Given the description of an element on the screen output the (x, y) to click on. 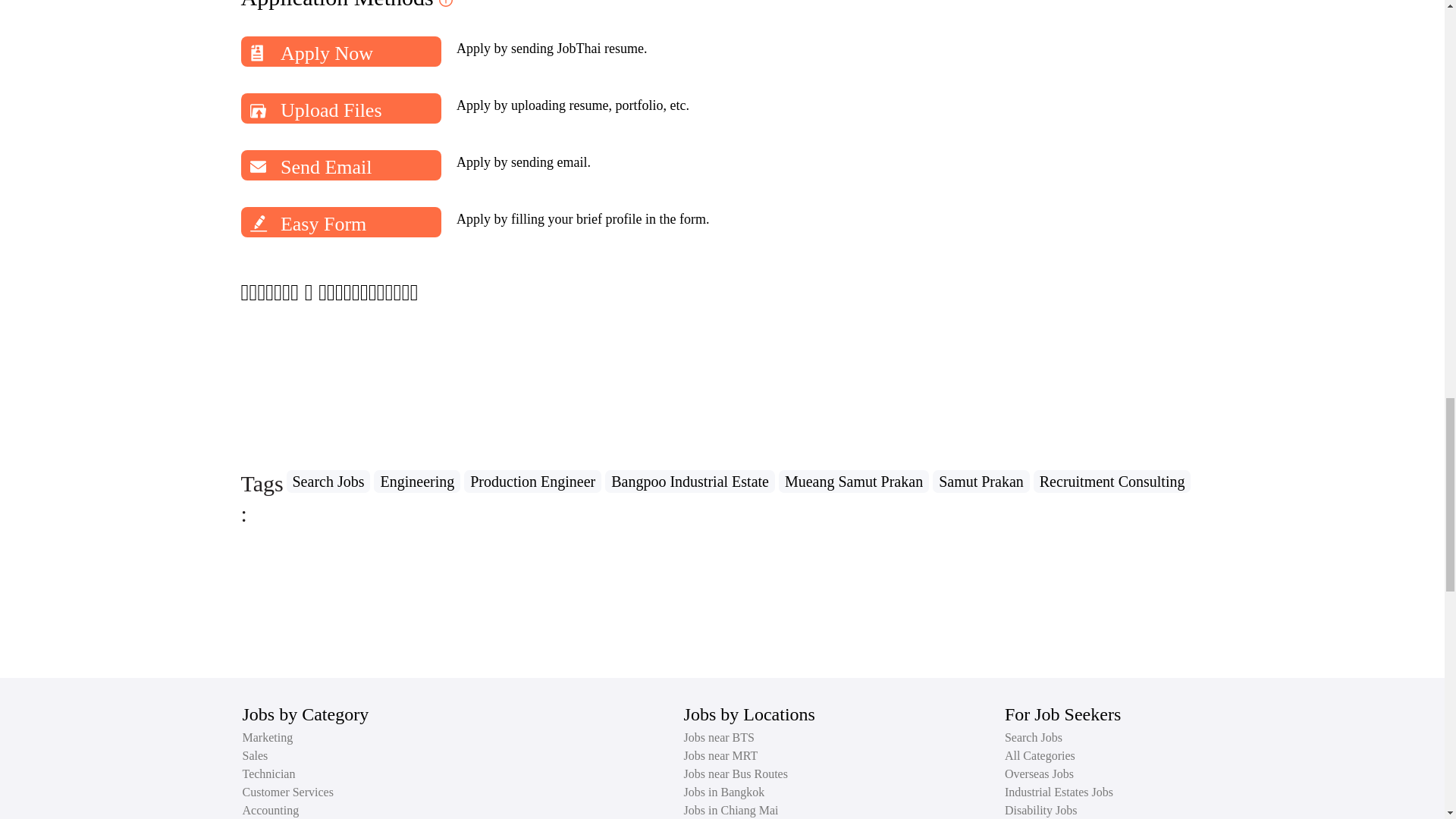
Recruitment Consulting (1114, 482)
Jobs in Chiang Mai (731, 810)
Jobs near BTS (719, 737)
Jobs in Bangkok (724, 792)
Accounting (271, 810)
Marketing (268, 737)
Sales (255, 756)
Jobs near Bus Routes (735, 774)
Technician (269, 774)
Customer Services (288, 792)
Mueang Samut Prakan (855, 482)
Bangpoo Industrial Estate (691, 482)
Engineering (419, 482)
Production Engineer (534, 482)
Jobs near MRT (721, 756)
